Given the description of an element on the screen output the (x, y) to click on. 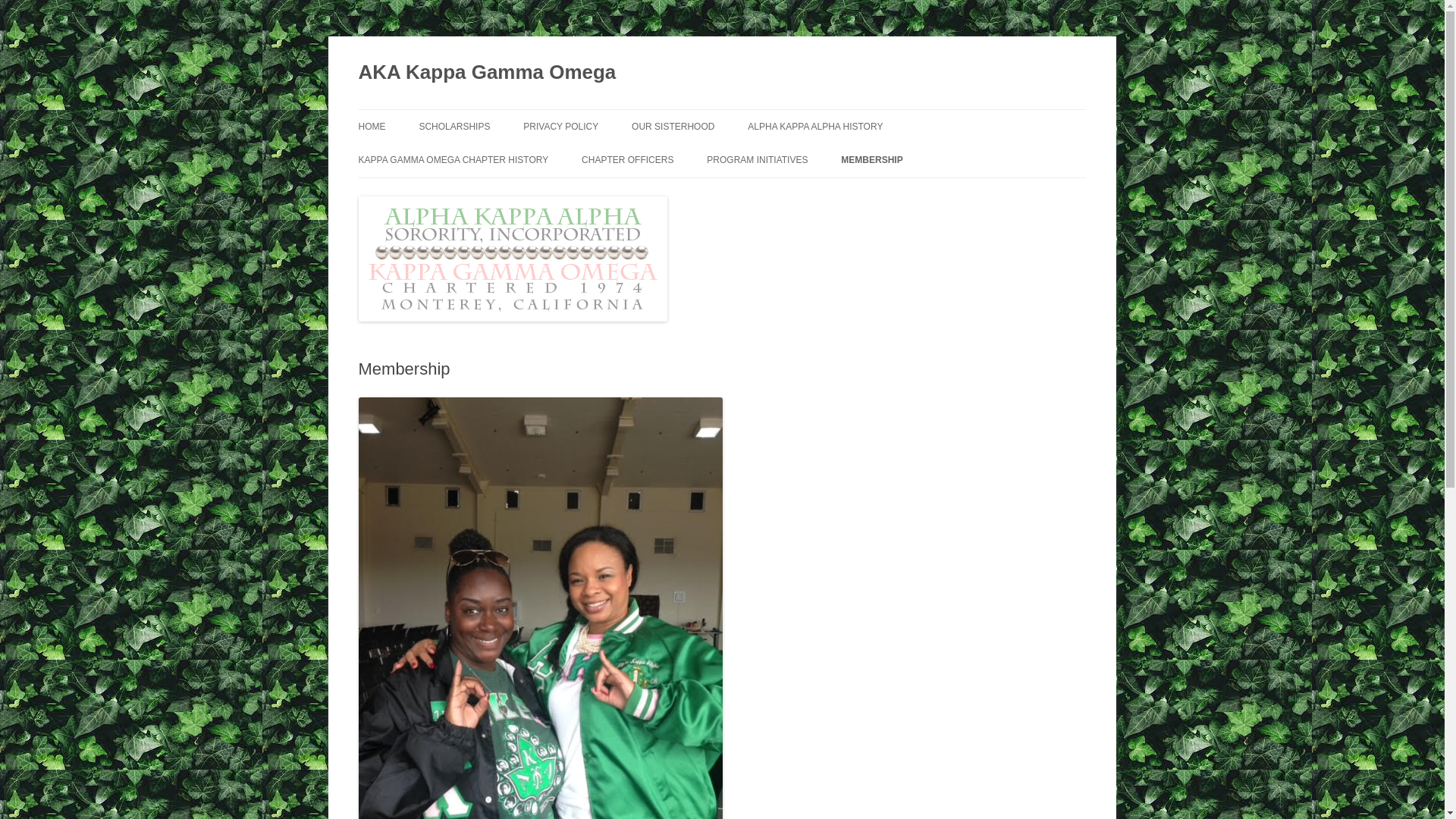
SCHOLARSHIPS (454, 126)
CHAPTER OFFICERS (626, 159)
PROGRAM INITIATIVES (757, 159)
AKA Kappa Gamma Omega (486, 72)
MEMBERSHIP (871, 159)
KAPPA GAMMA OMEGA CHAPTER HISTORY (453, 159)
ALPHA KAPPA ALPHA HISTORY (815, 126)
OUR SISTERHOOD (672, 126)
PRIVACY POLICY (560, 126)
